Given the description of an element on the screen output the (x, y) to click on. 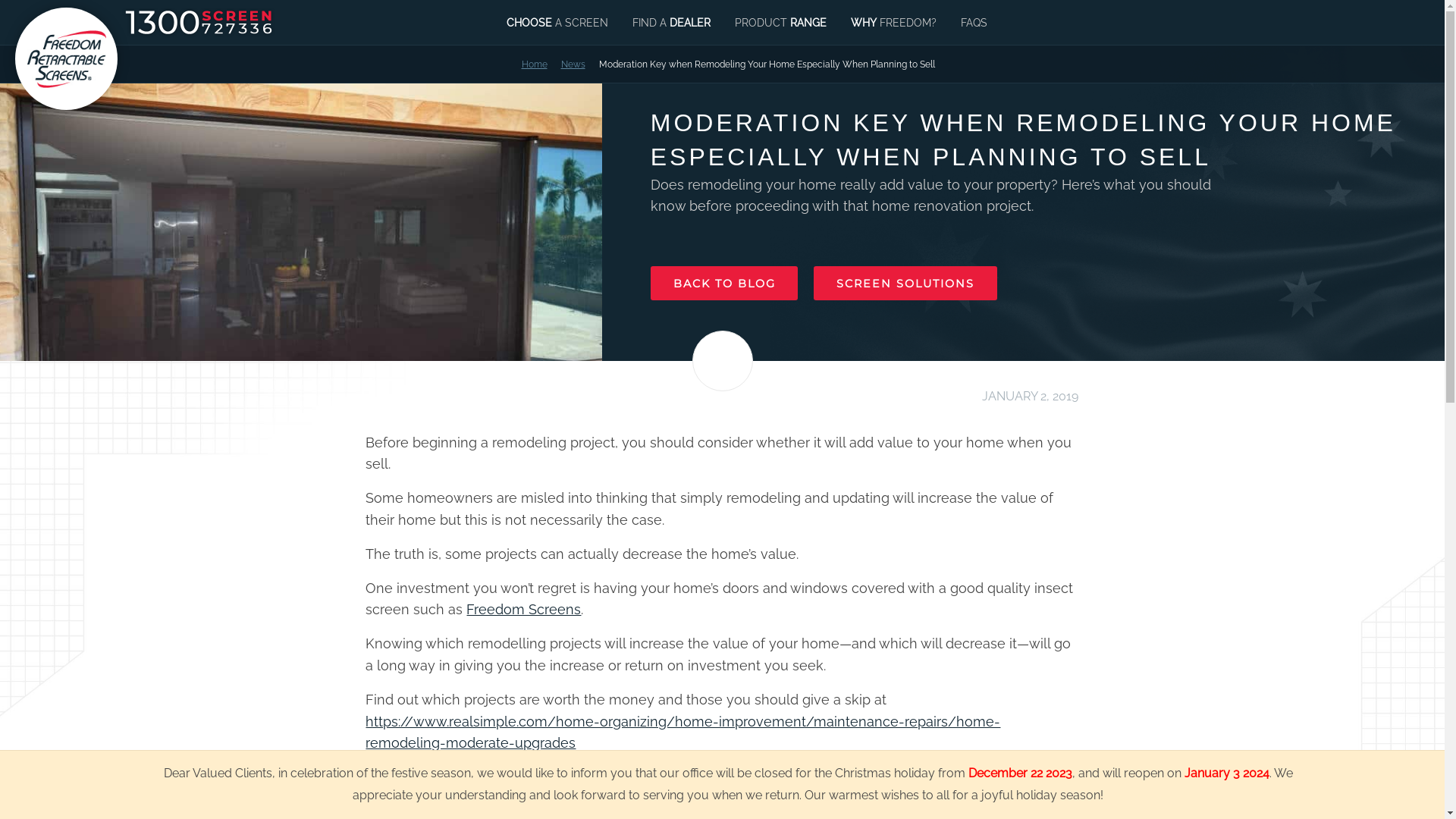
Freedom Screens Element type: text (523, 609)
FAQS Element type: text (972, 22)
WHY FREEDOM? Element type: text (893, 22)
FIND A DEALER Element type: text (671, 22)
PRODUCT RANGE Element type: text (779, 22)
Home Element type: text (534, 64)
SCREEN SOLUTIONS Element type: text (905, 283)
CHOOSE A SCREEN Element type: text (557, 22)
BACK TO BLOG Element type: text (724, 283)
News Element type: text (573, 64)
